Given the description of an element on the screen output the (x, y) to click on. 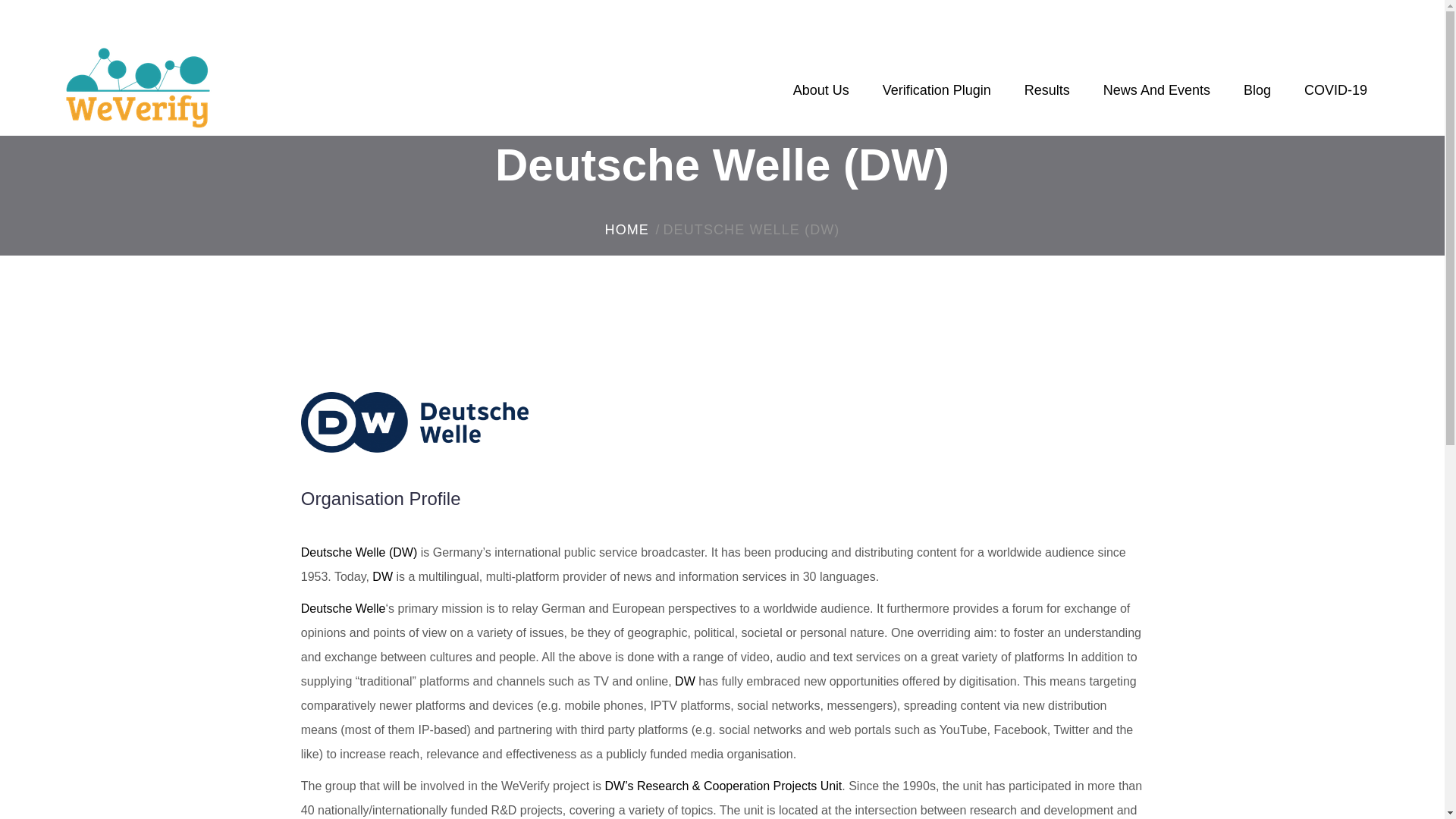
COVID-19 (1335, 98)
News And Events (1156, 98)
Deutsche Welle (343, 608)
About us (820, 98)
Verification Plugin (936, 98)
Results (1047, 98)
HOME (627, 230)
About Us (820, 98)
Verification plugin (936, 98)
Results (1047, 98)
